Given the description of an element on the screen output the (x, y) to click on. 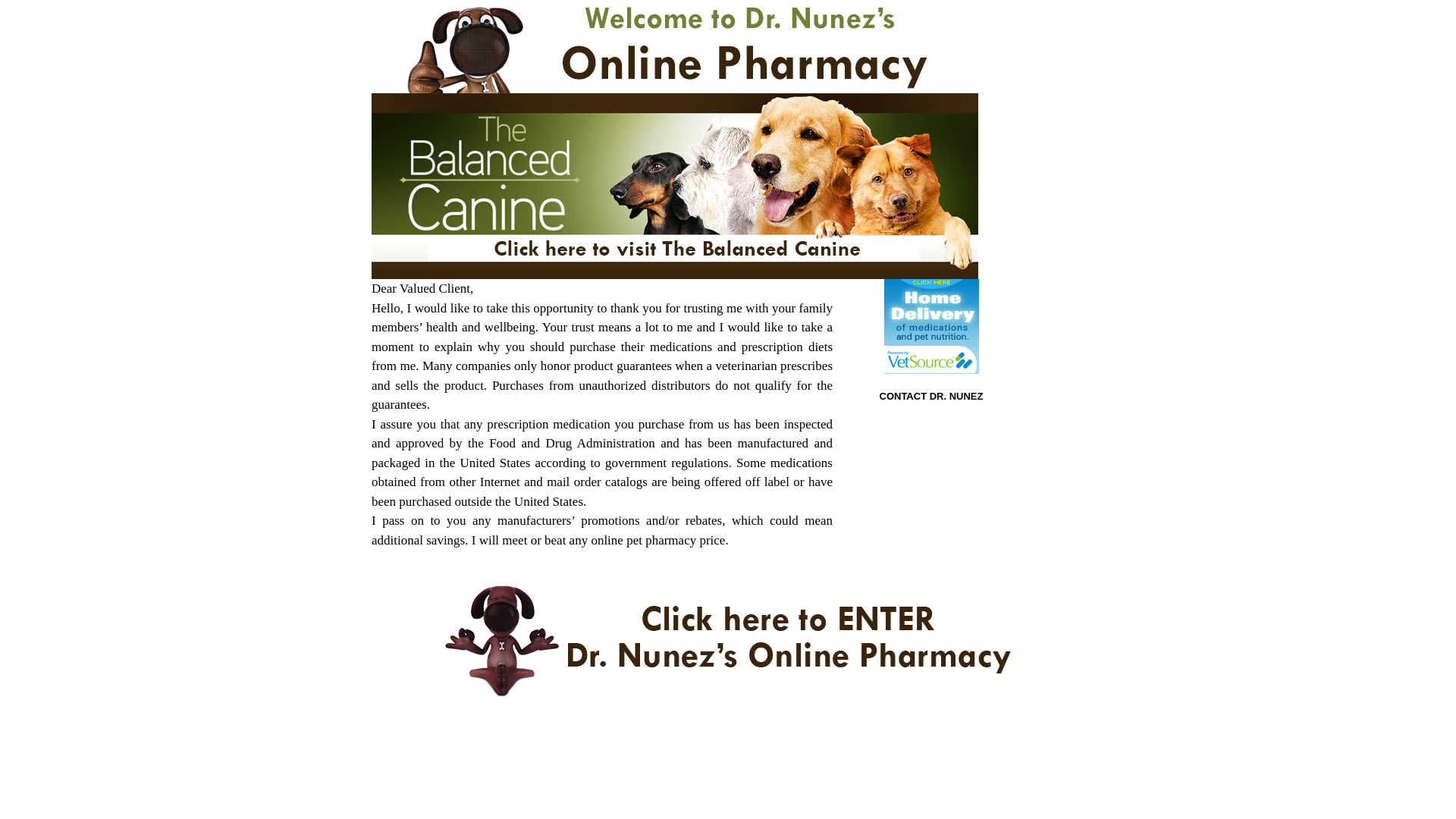
CONTACT DR. NUNEZ (931, 395)
